Given the description of an element on the screen output the (x, y) to click on. 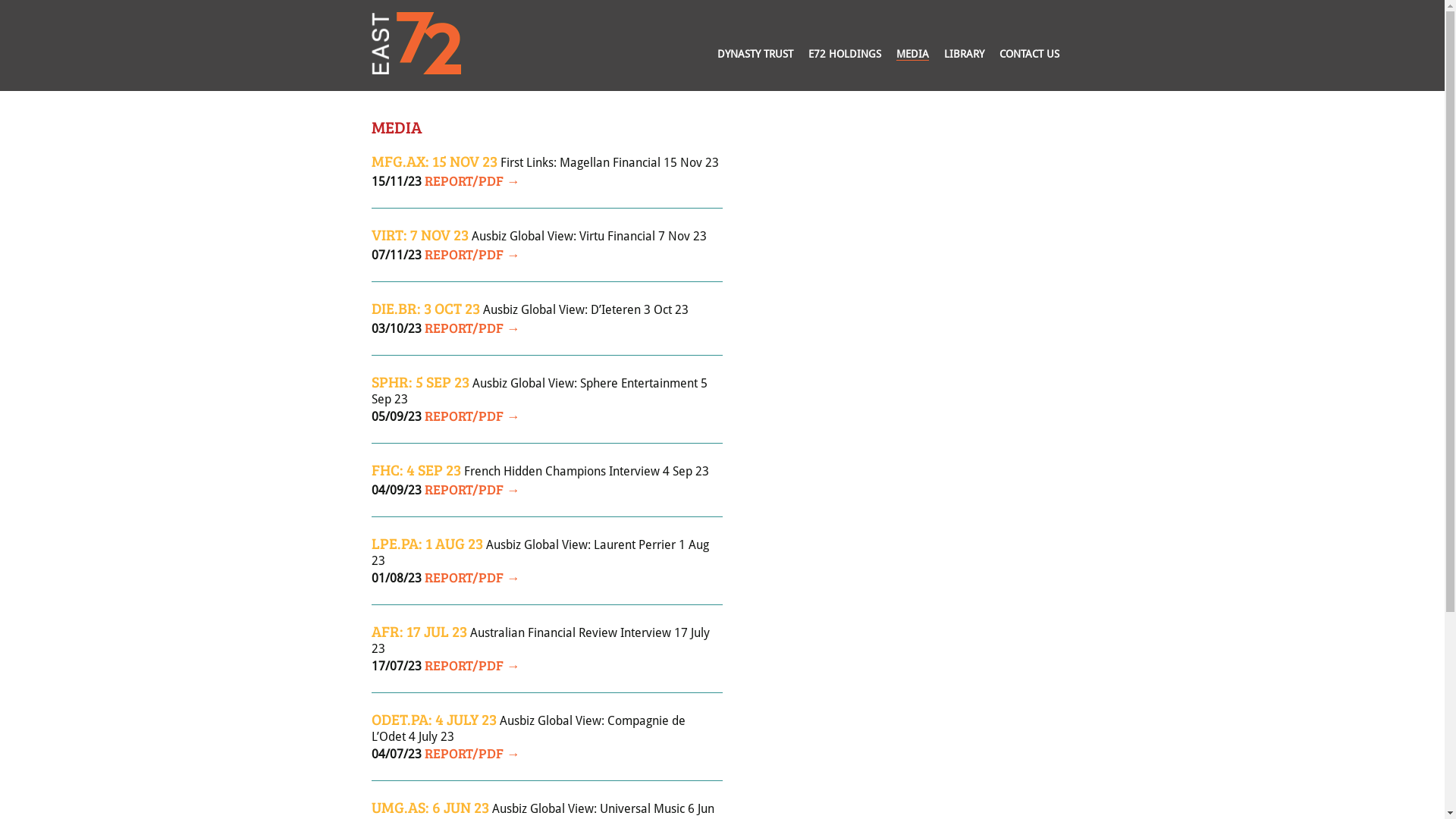
LIBRARY Element type: text (964, 53)
CONTACT US Element type: text (1029, 53)
DYNASTY TRUST Element type: text (755, 53)
E72 HOLDINGS Element type: text (844, 53)
MEDIA Element type: text (912, 53)
East 72 Element type: text (416, 43)
